Given the description of an element on the screen output the (x, y) to click on. 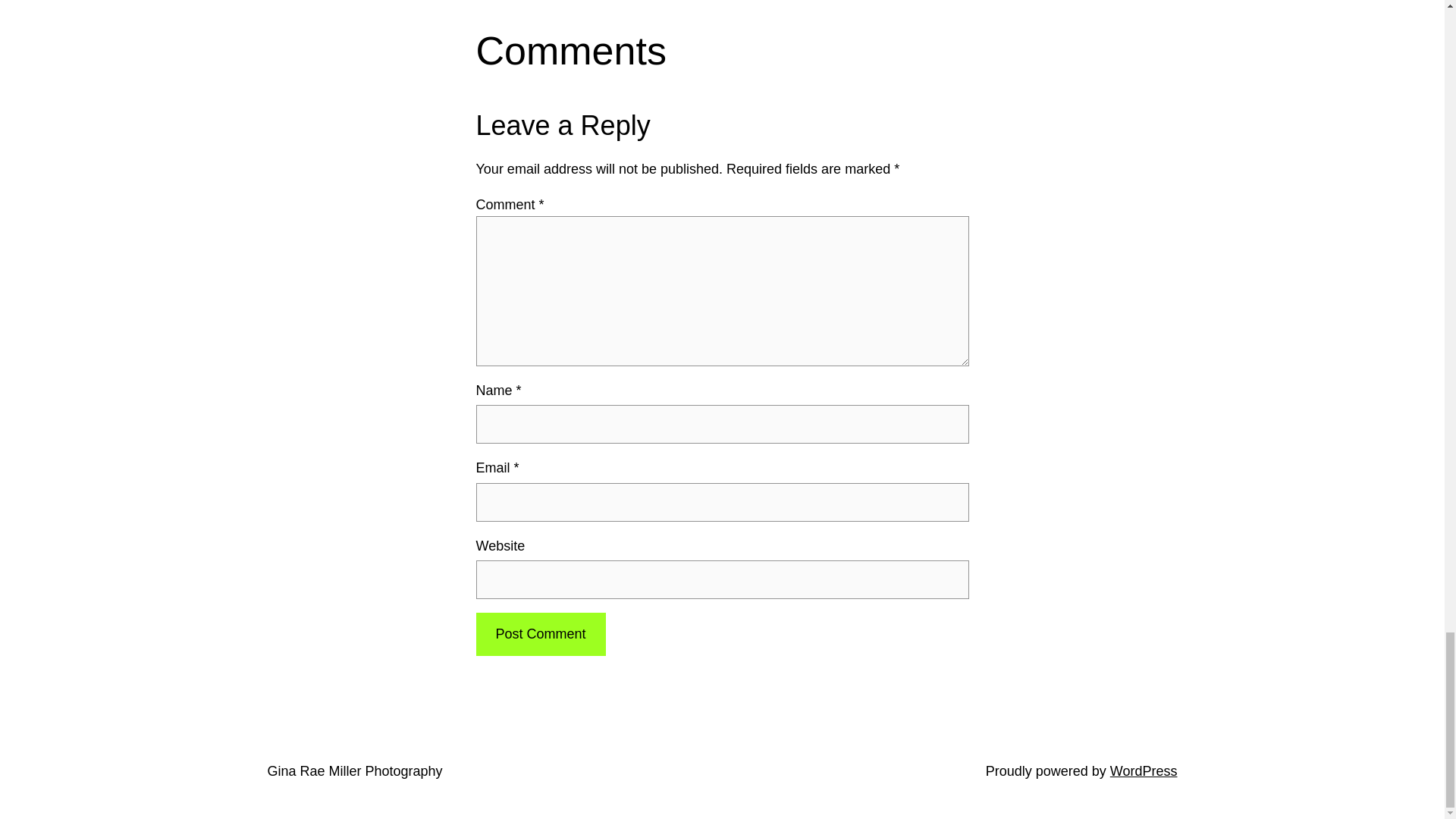
Post Comment (540, 634)
Post Comment (540, 634)
Gina Rae Miller Photography (354, 770)
WordPress (1143, 770)
